Given the description of an element on the screen output the (x, y) to click on. 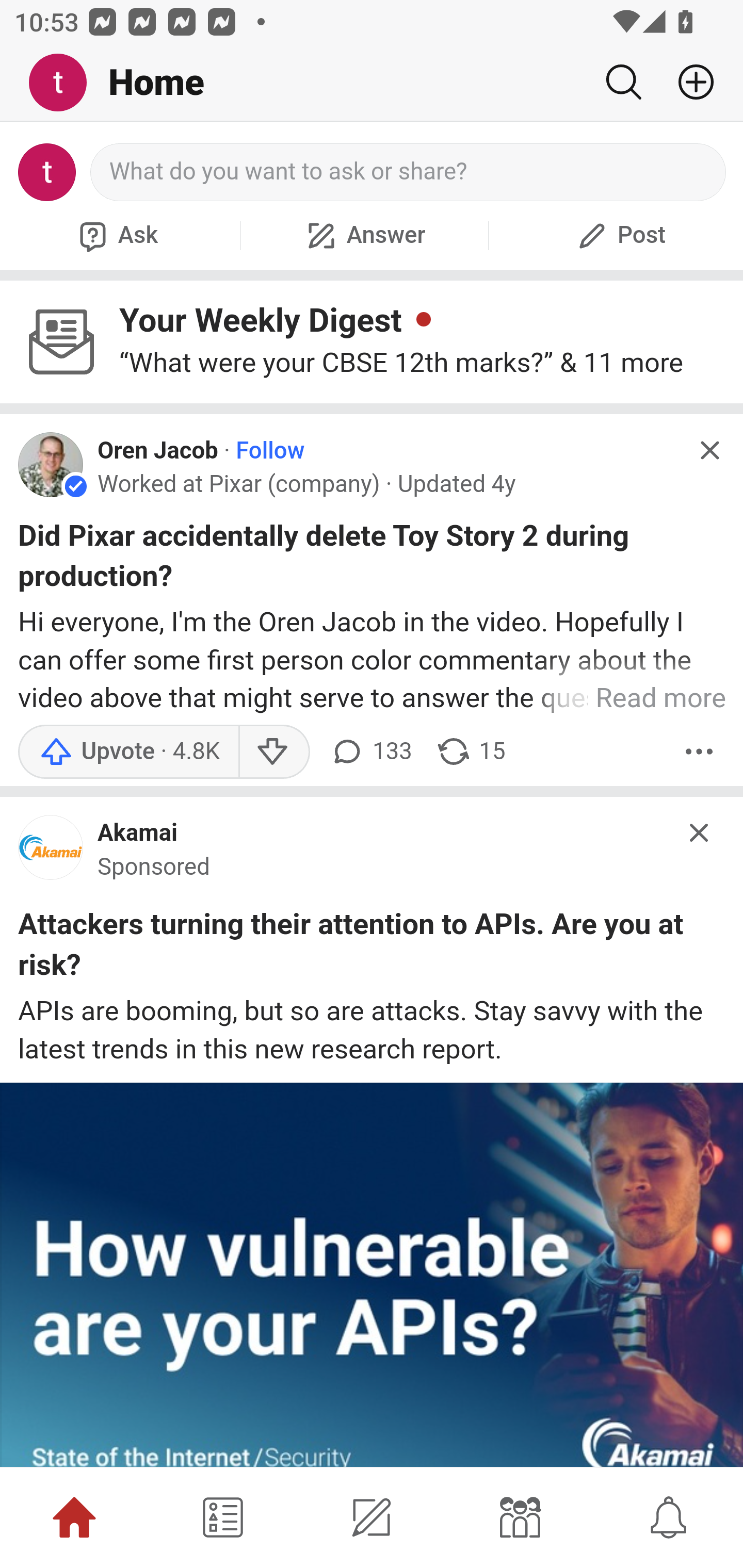
Me Home Search Add (371, 82)
Me (64, 83)
Search (623, 82)
Add (688, 82)
